Given the description of an element on the screen output the (x, y) to click on. 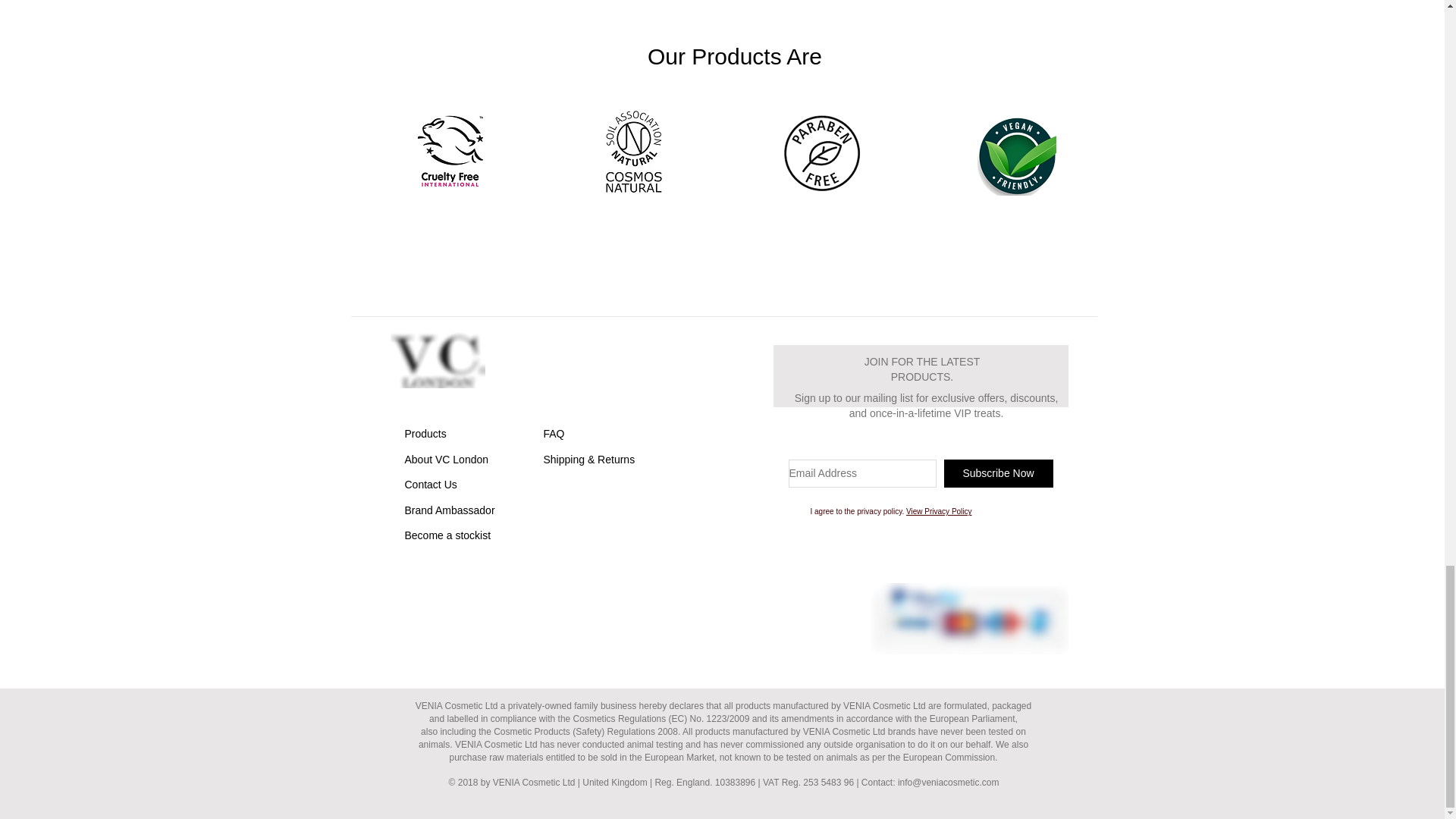
Subscribe Now (997, 473)
Contact Us (430, 484)
Brand Ambassador (449, 510)
View Privacy Policy (938, 510)
Become a stockist (448, 535)
FAQ (553, 433)
About VC London (446, 459)
Products (425, 433)
